Given the description of an element on the screen output the (x, y) to click on. 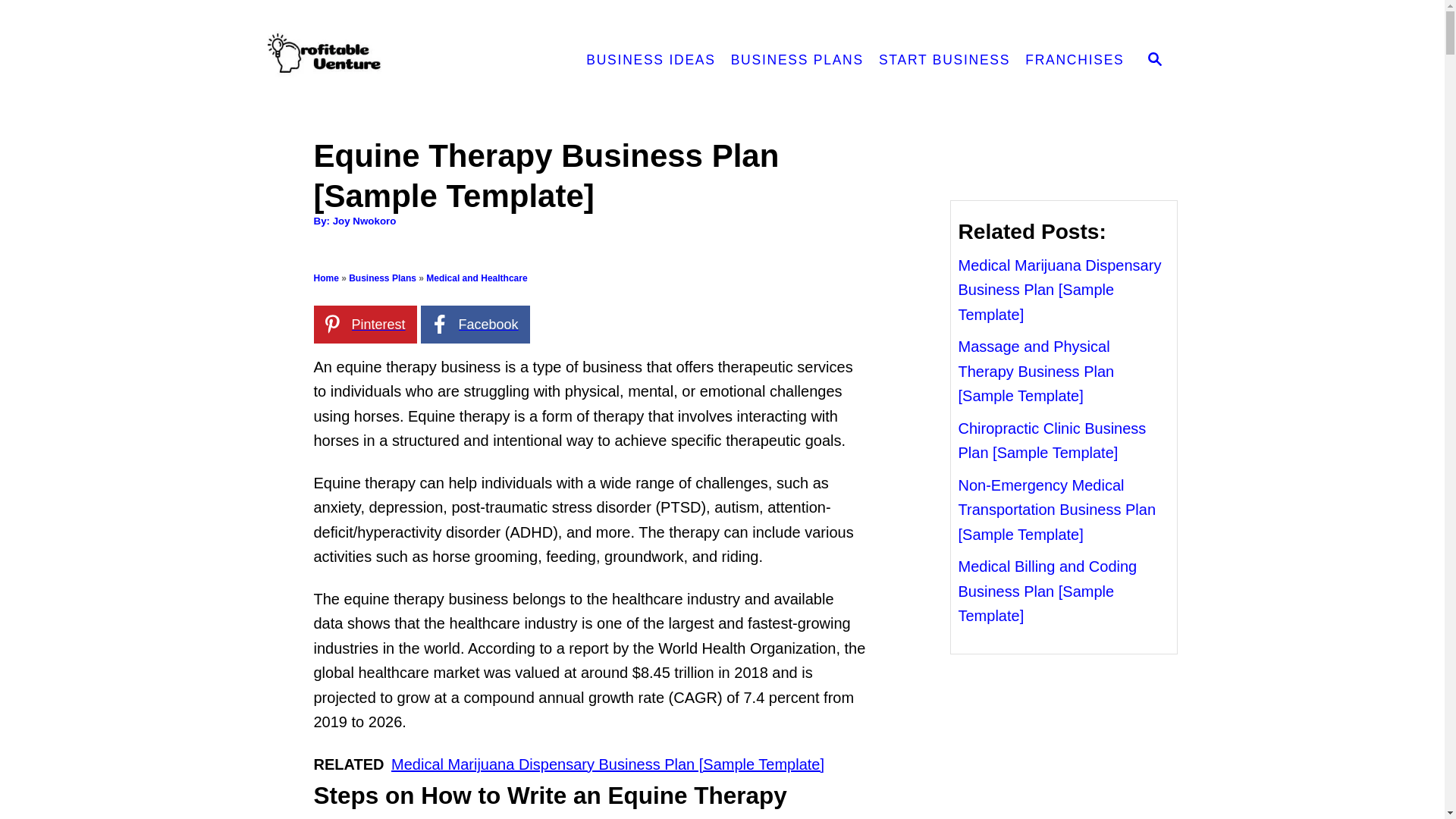
BUSINESS IDEAS (650, 60)
ProfitableVenture (400, 60)
FRANCHISES (1074, 60)
Medical and Healthcare (476, 277)
SEARCH (1154, 60)
Home (326, 277)
START BUSINESS (943, 60)
BUSINESS PLANS (796, 60)
Joy Nwokoro (364, 220)
Pinterest (365, 324)
Business Plans (382, 277)
Facebook (474, 324)
